Given the description of an element on the screen output the (x, y) to click on. 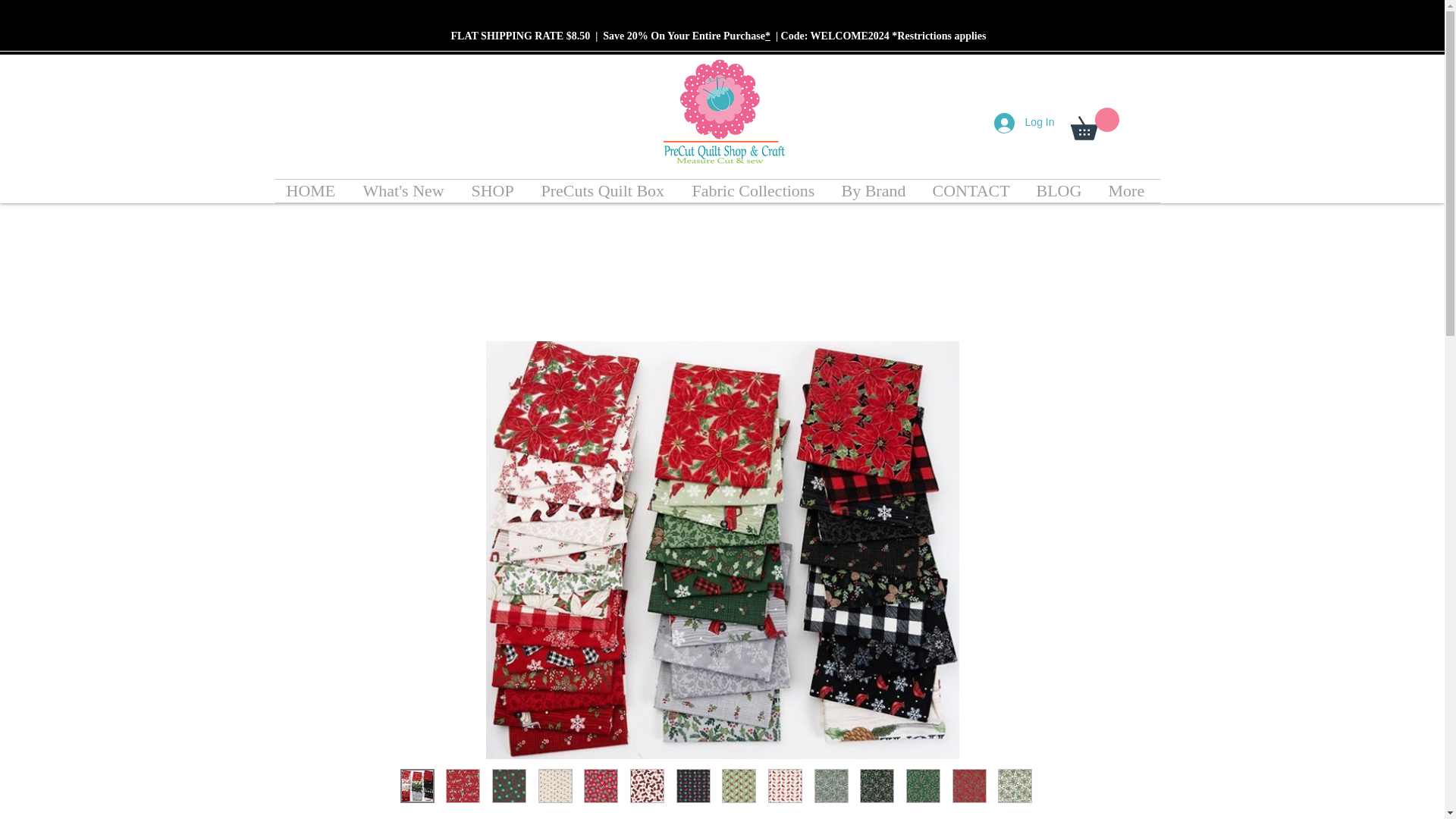
By Brand (874, 190)
HOME (312, 190)
Log In (1024, 122)
SHOP (494, 190)
PreCuts Quilt Box (604, 190)
Fabric Collections (755, 190)
What's New (406, 190)
